Given the description of an element on the screen output the (x, y) to click on. 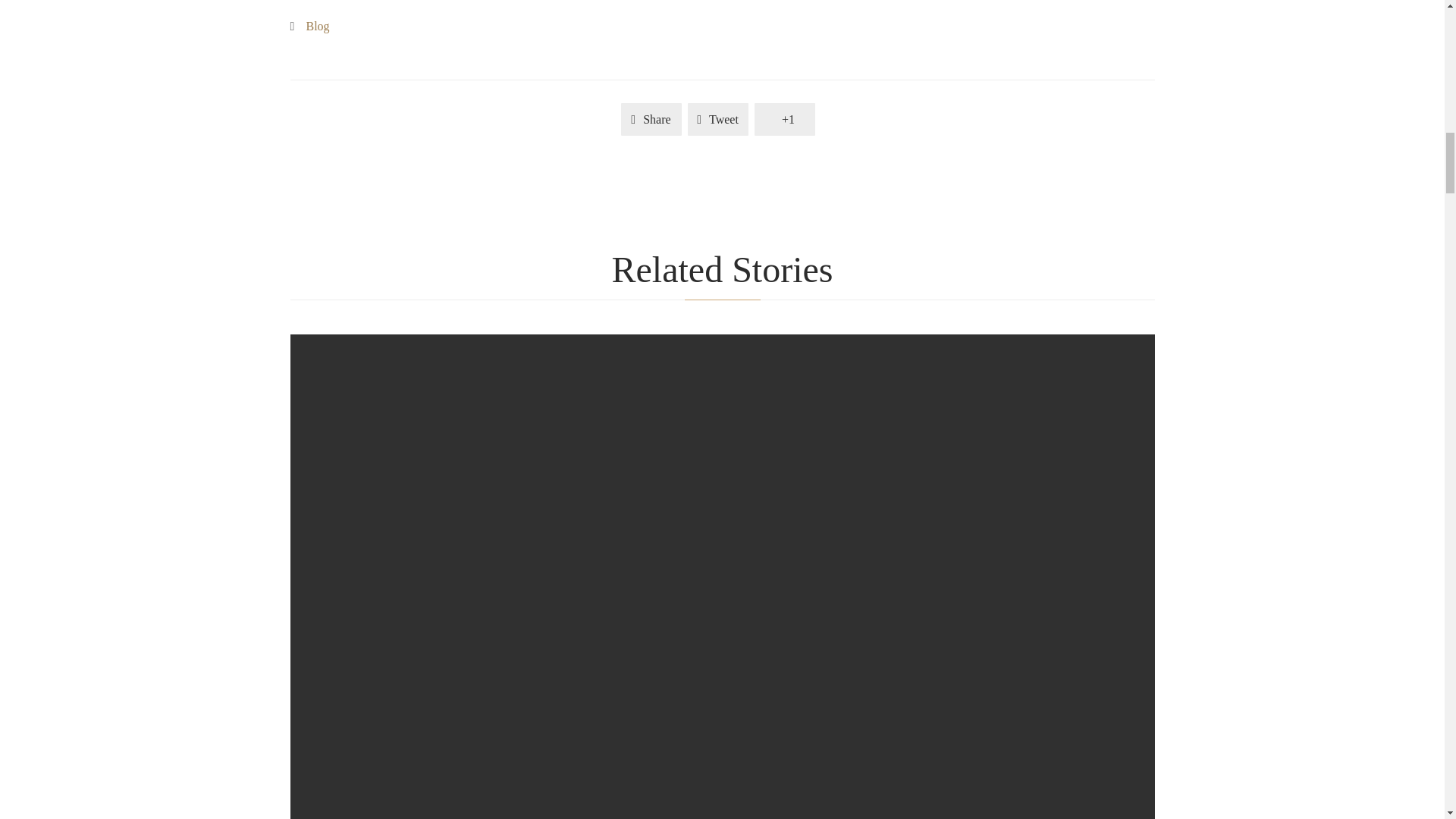
Share (650, 119)
Share on Google Plus (783, 119)
Share on Twitter (717, 119)
Tweet (717, 119)
Share on Facebook (650, 119)
Blog (317, 25)
